Given the description of an element on the screen output the (x, y) to click on. 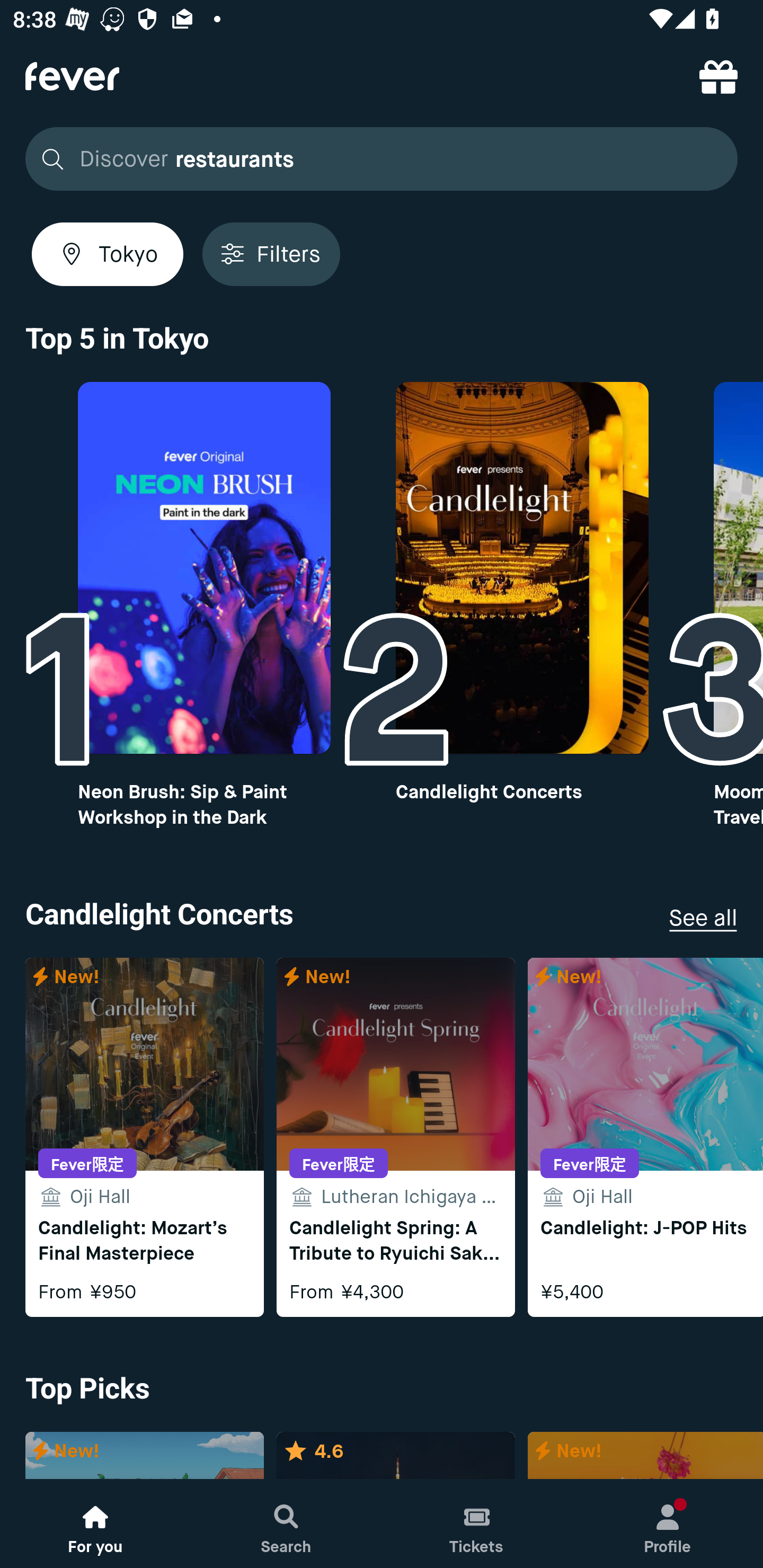
referral (718, 75)
Discover concerts restaurants (381, 158)
Discover concerts restaurants (376, 158)
Tokyo (107, 253)
Filters (271, 253)
Top10 image (203, 568)
Top10 image (521, 568)
See all (702, 917)
Search (285, 1523)
Tickets (476, 1523)
Profile, New notification Profile (667, 1523)
